Given the description of an element on the screen output the (x, y) to click on. 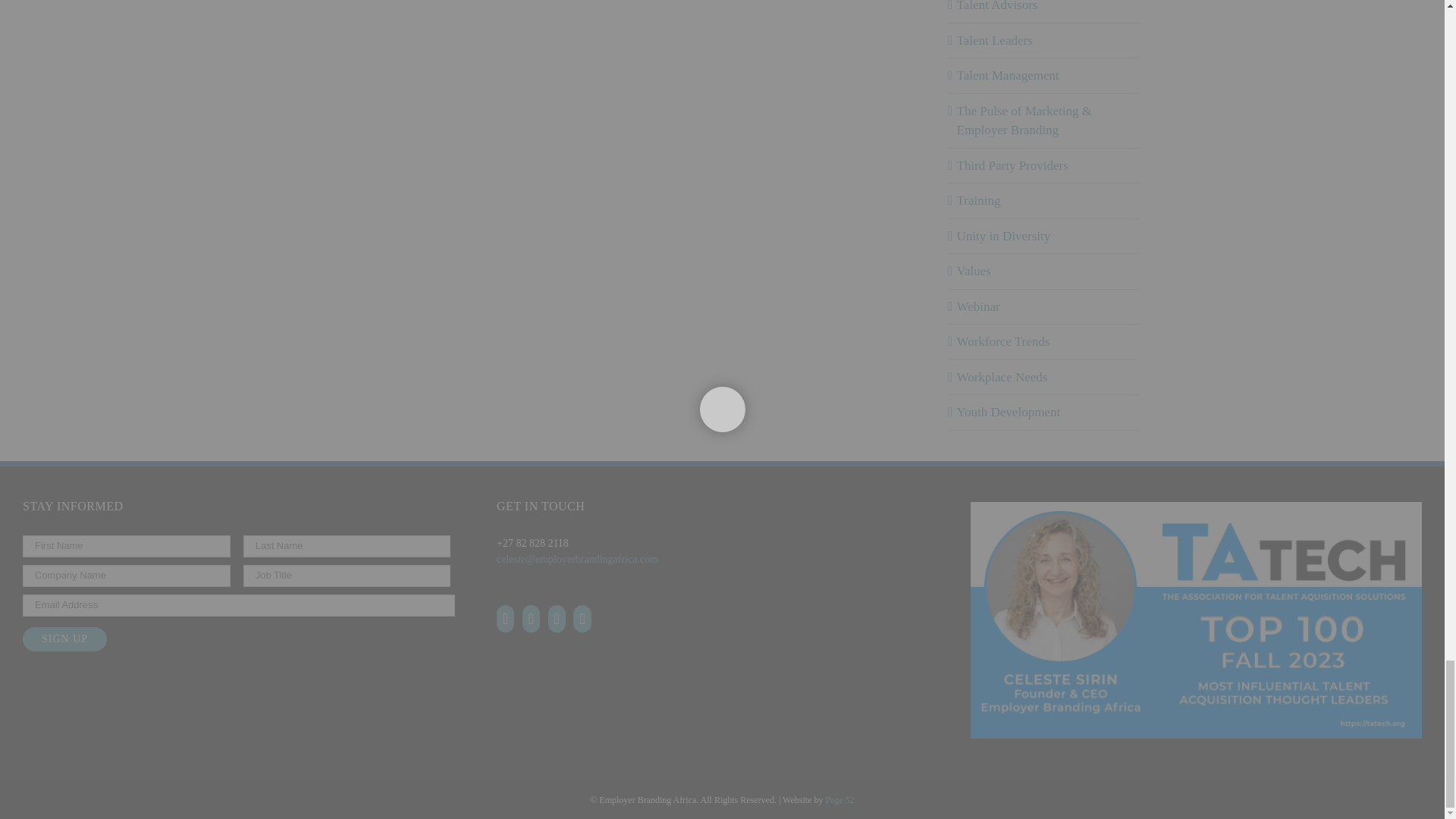
Sign up (64, 639)
